Given the description of an element on the screen output the (x, y) to click on. 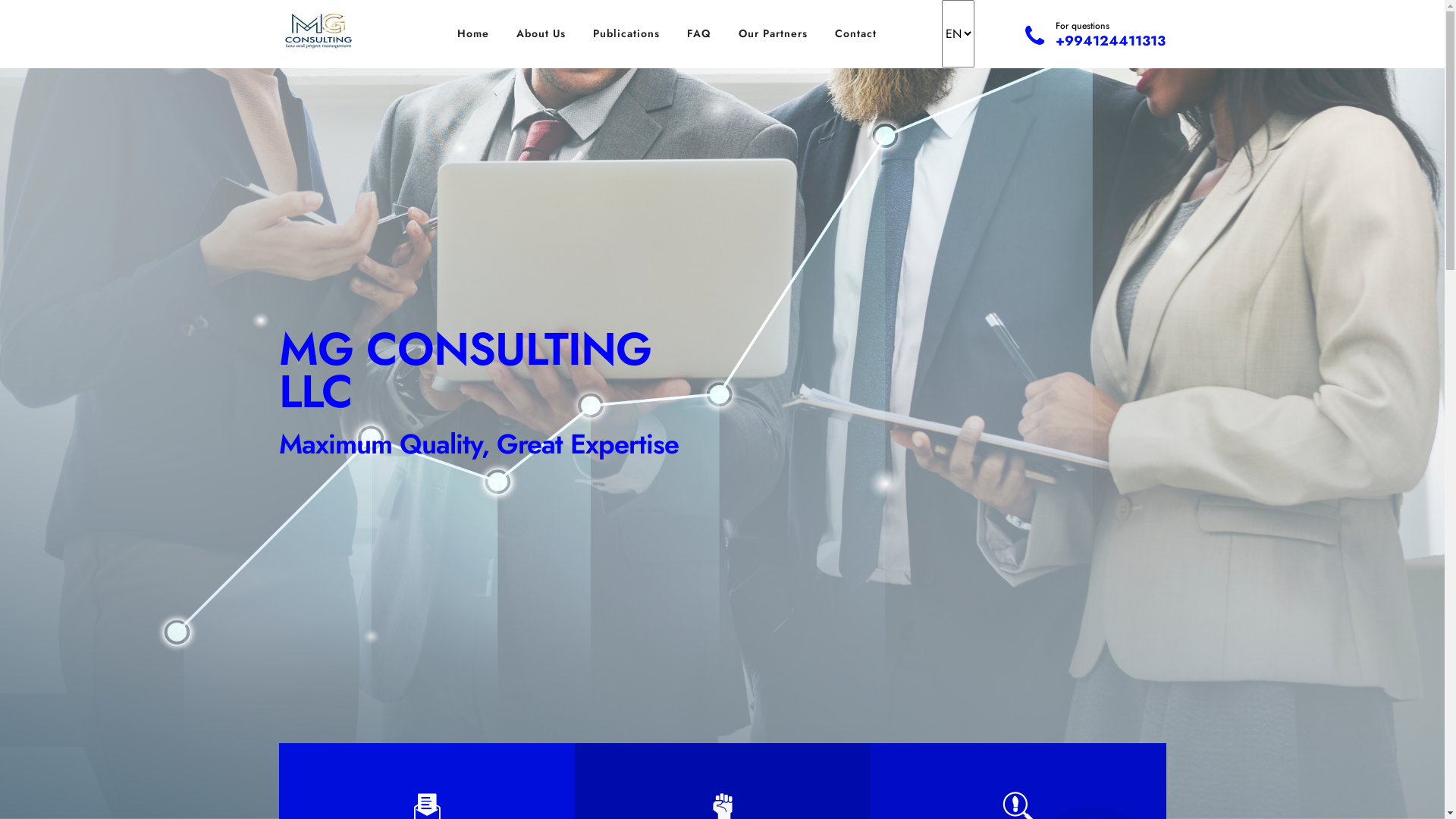
About Us Element type: text (540, 33)
Contact Element type: text (855, 33)
FAQ Element type: text (698, 33)
Home Element type: text (472, 33)
Our Partners Element type: text (772, 33)
+994124411313 Element type: text (1110, 40)
Publications Element type: text (626, 33)
